Given the description of an element on the screen output the (x, y) to click on. 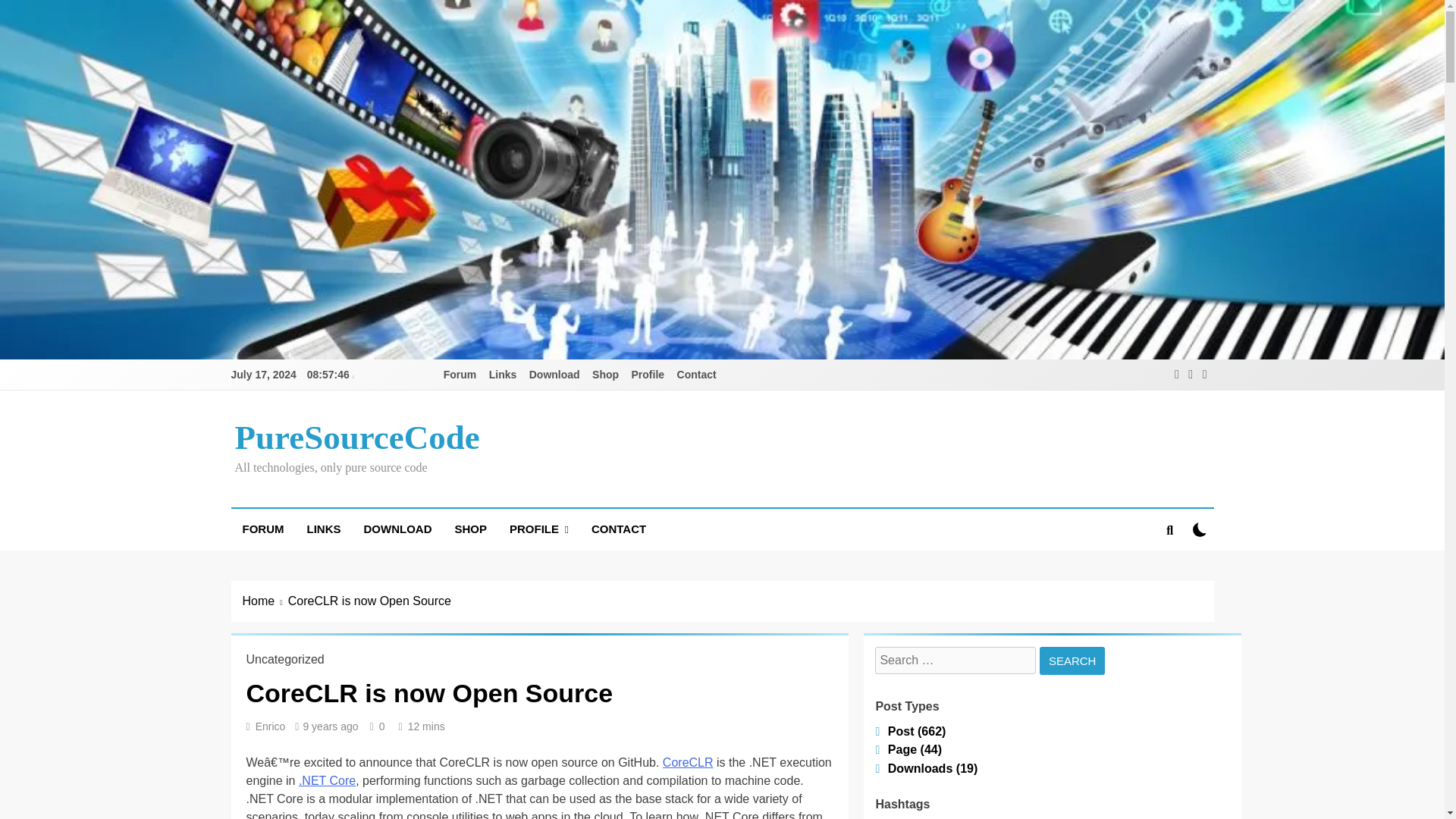
Links (502, 374)
Download (554, 374)
CONTACT (618, 528)
9 years ago (330, 726)
.NET Core (326, 780)
LINKS (323, 528)
DOWNLOAD (397, 528)
Search (1072, 660)
Contact (696, 374)
Shop (605, 374)
Search (1072, 660)
Enrico (270, 726)
PureSourceCode (357, 437)
Home (265, 601)
Profile (648, 374)
